Given the description of an element on the screen output the (x, y) to click on. 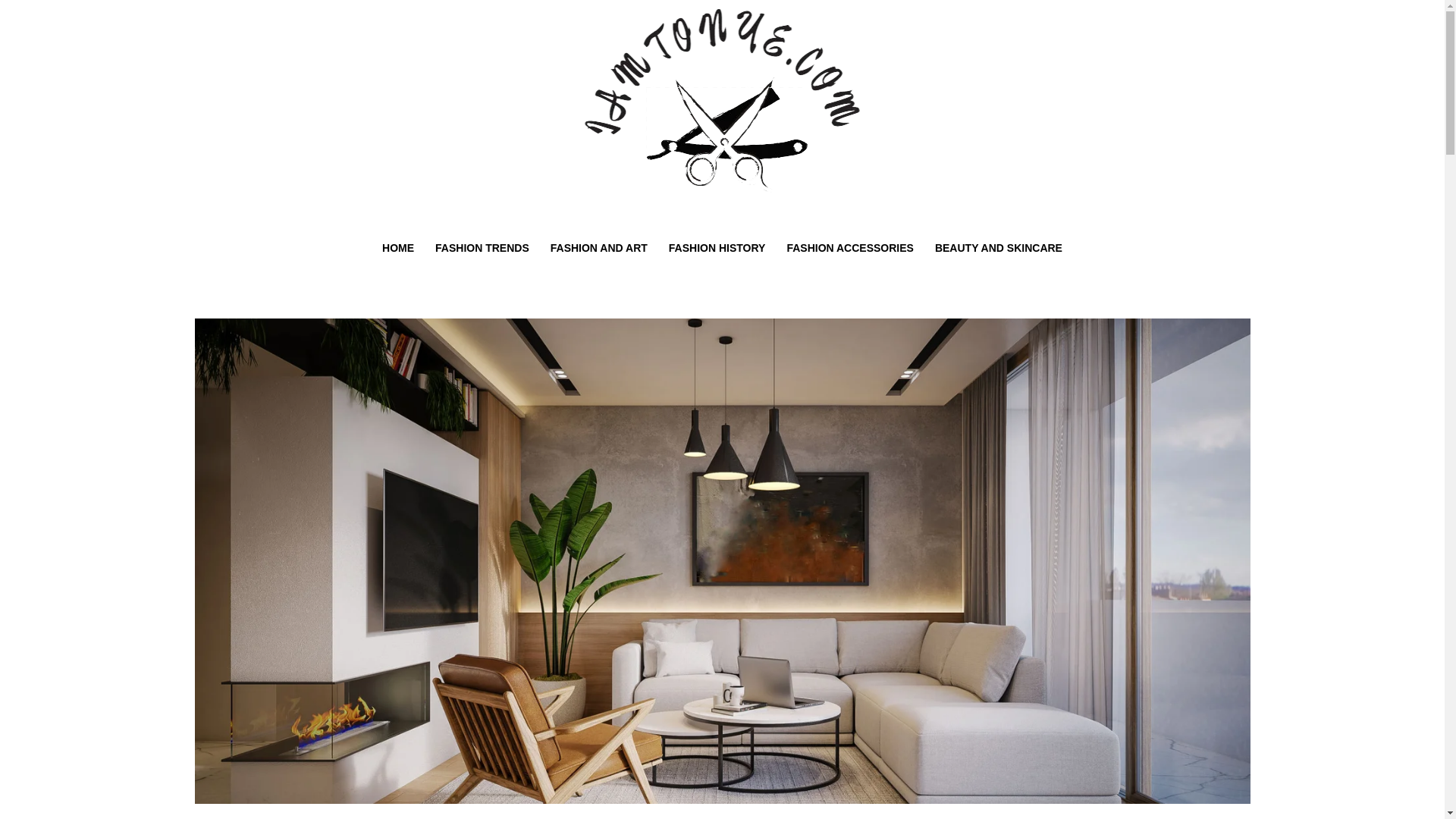
FASHION TRENDS (482, 248)
HOME (398, 248)
FASHION AND ART (599, 248)
FASHION ACCESSORIES (850, 248)
FASHION HISTORY (717, 248)
BEAUTY AND SKINCARE (998, 248)
